Given the description of an element on the screen output the (x, y) to click on. 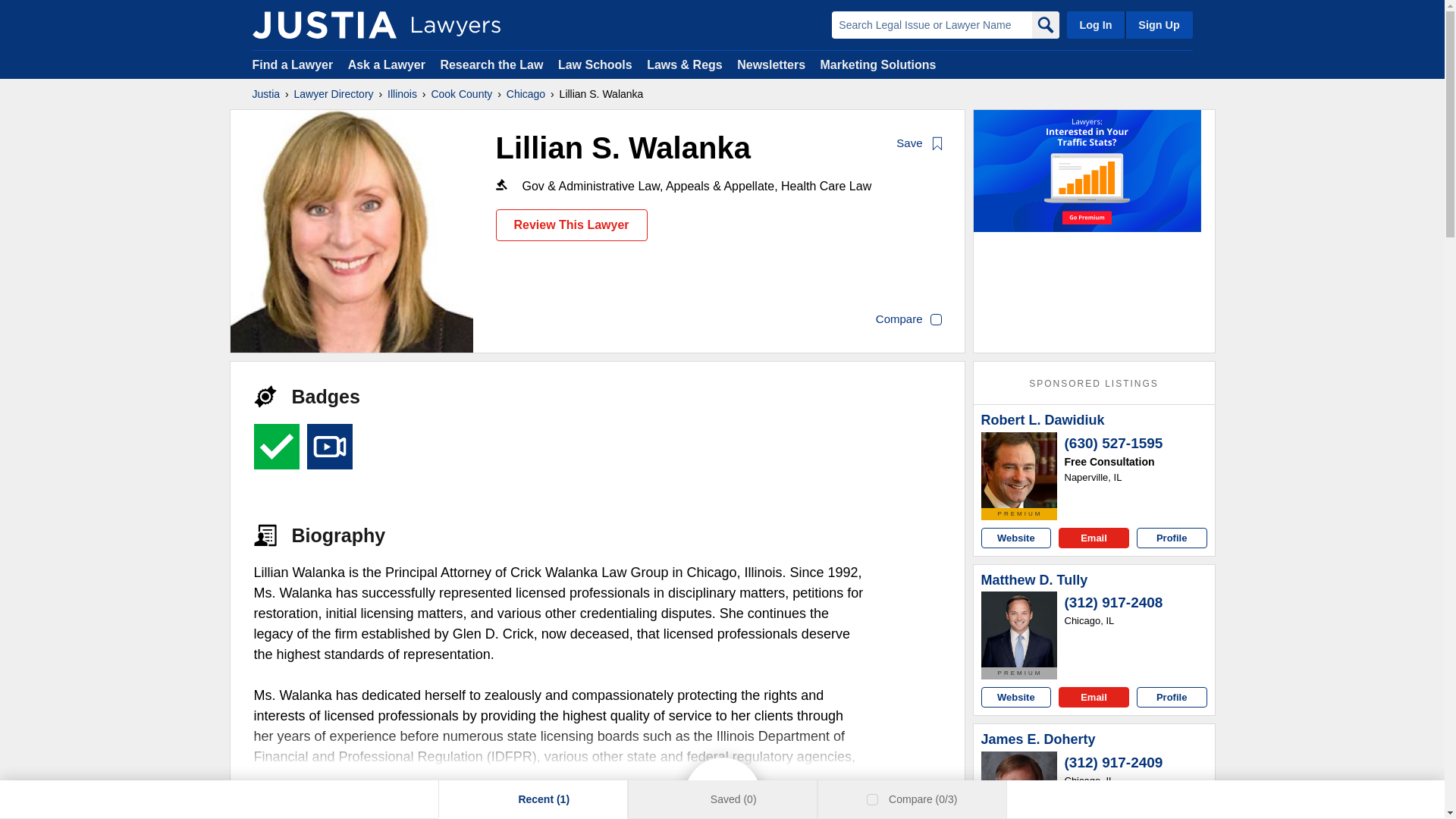
Justia Lawyer Directory (323, 24)
Justia (265, 93)
Illinois (401, 93)
Newsletters (770, 64)
Log In (1094, 24)
Chicago (525, 93)
James E. Doherty (1038, 740)
Ask a Lawyer (388, 64)
Lawyer Directory (334, 93)
Save (919, 143)
Matthew D. Tully (1034, 580)
Review This Lawyer (571, 224)
Matthew D. Tully (1019, 629)
Law Schools (594, 64)
Search Legal Issue or Lawyer Name (930, 24)
